Given the description of an element on the screen output the (x, y) to click on. 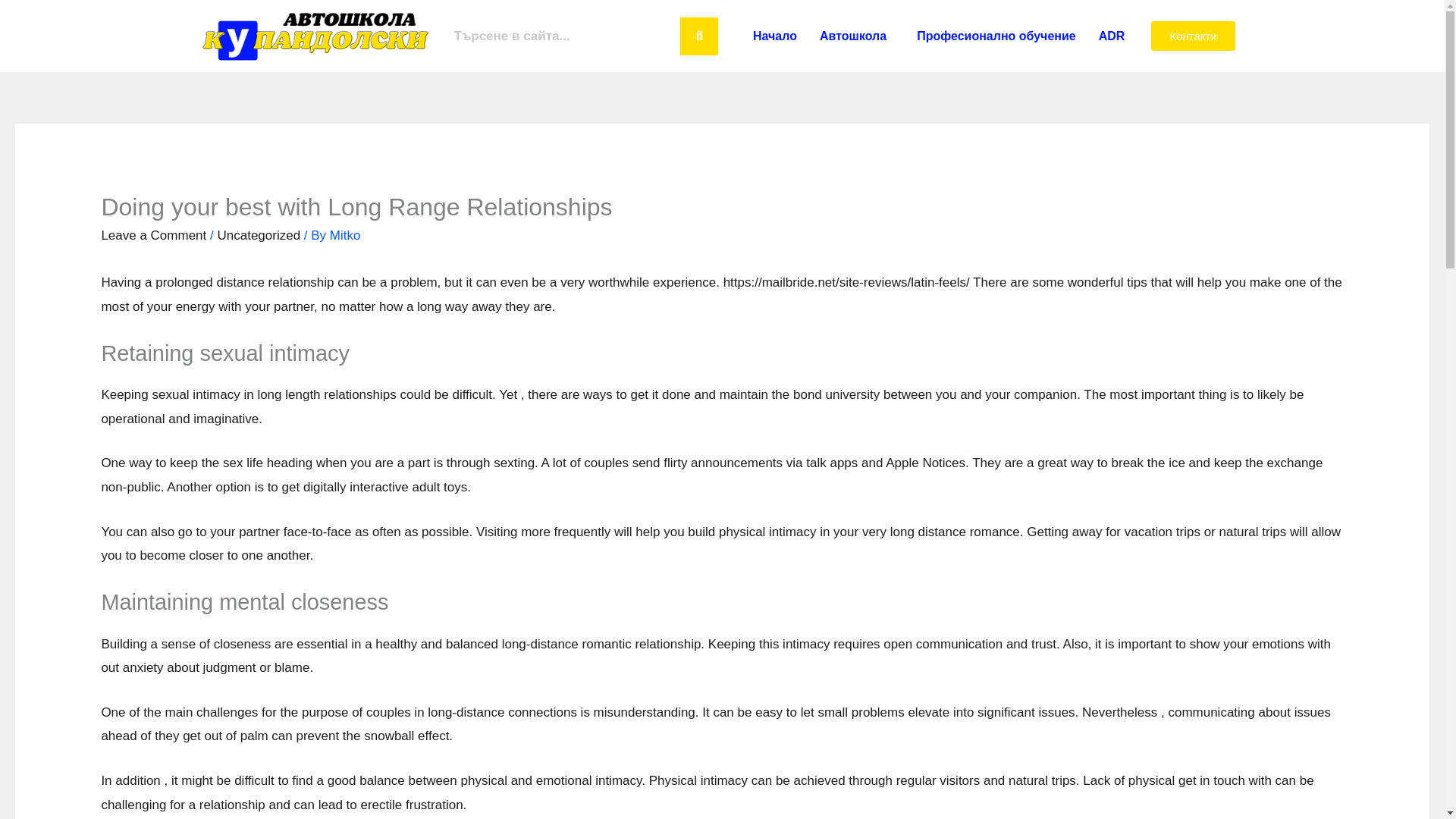
View all posts by Mitko (345, 235)
ADR (1112, 35)
Search (562, 35)
